Given the description of an element on the screen output the (x, y) to click on. 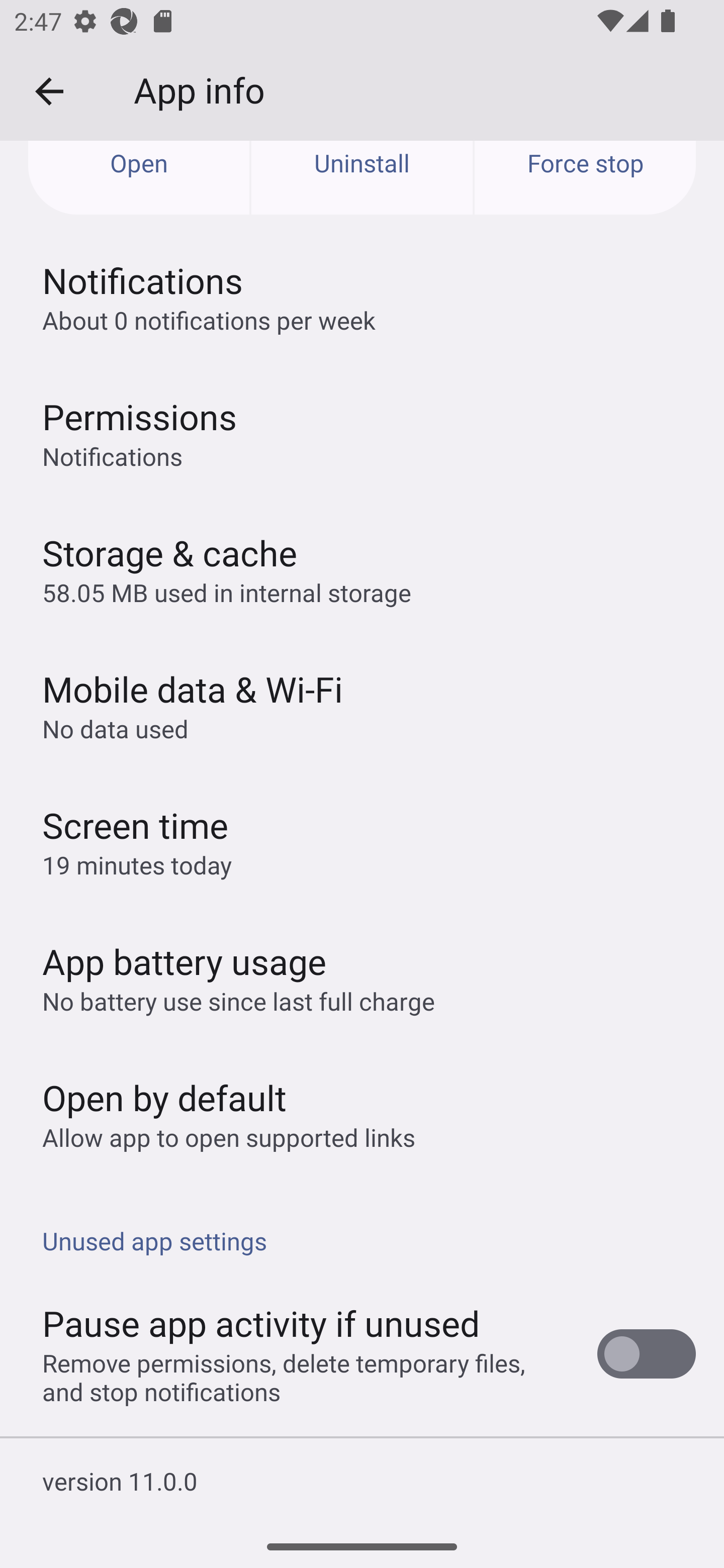
Navigate up (49, 91)
Open (138, 177)
Uninstall (361, 177)
Force stop (584, 177)
Notifications About 0 notifications per week (362, 296)
Permissions Notifications (362, 433)
Storage & cache 58.05 MB used in internal storage (362, 568)
Mobile data & Wi‑Fi No data used (362, 704)
Screen time 19 minutes today (362, 841)
Open by default Allow app to open supported links (362, 1113)
